Given the description of an element on the screen output the (x, y) to click on. 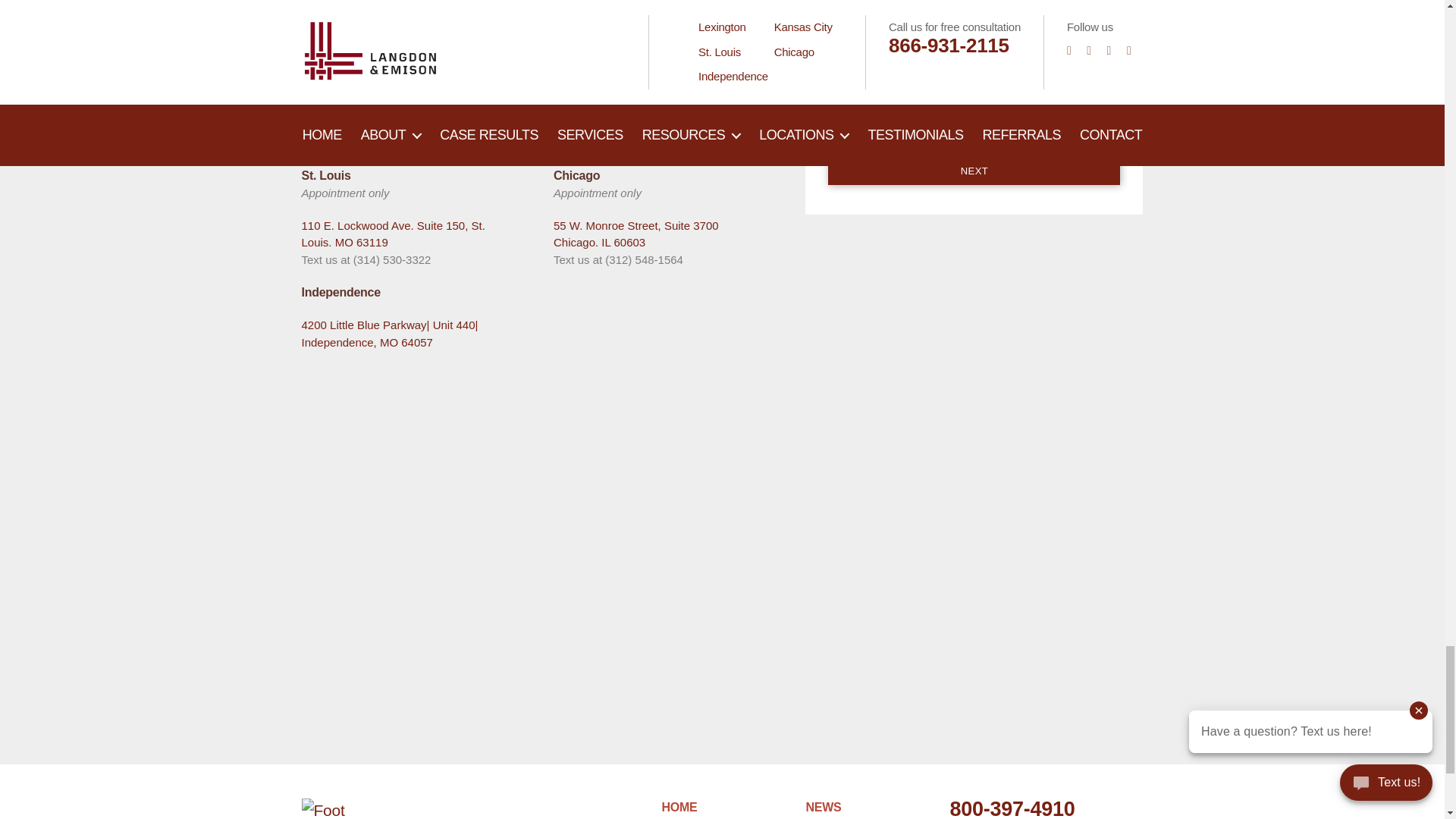
Next (973, 171)
